Given the description of an element on the screen output the (x, y) to click on. 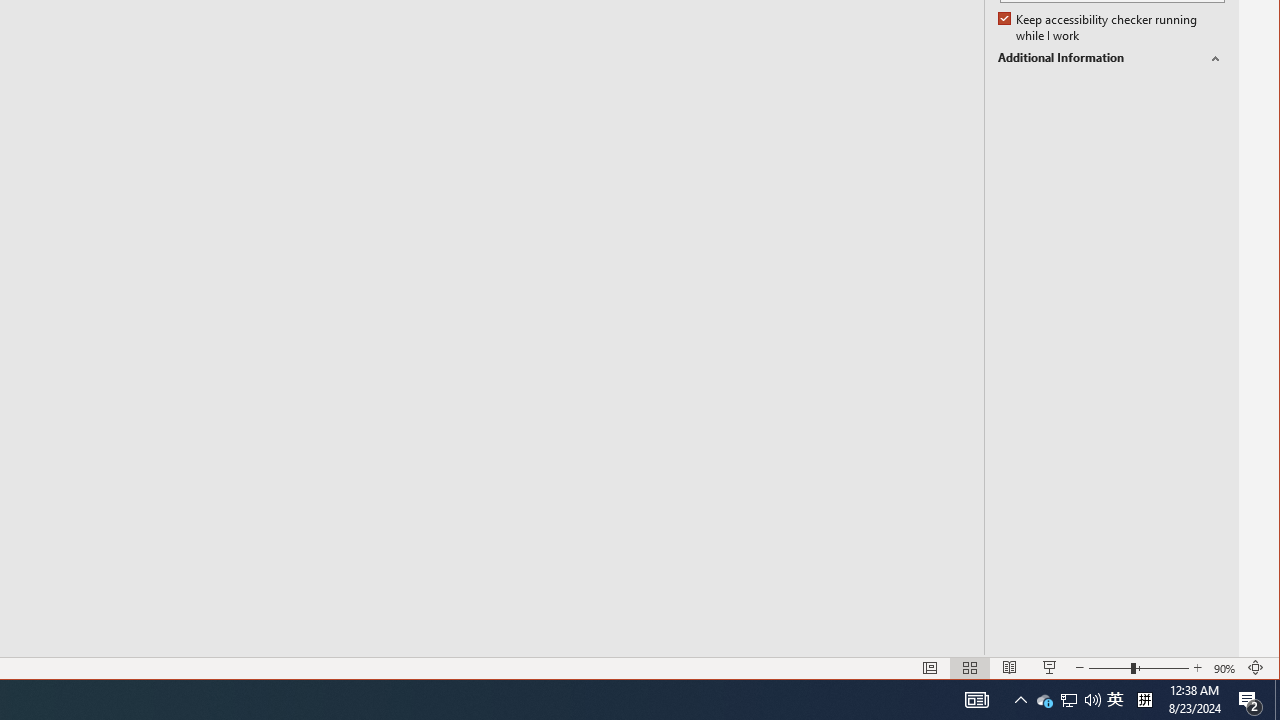
Zoom to Fit  (1115, 699)
Additional Information (1256, 668)
Zoom Out (1111, 57)
Keep accessibility checker running while I work (1110, 668)
Tray Input Indicator - Chinese (Simplified, China) (1044, 699)
